Given the description of an element on the screen output the (x, y) to click on. 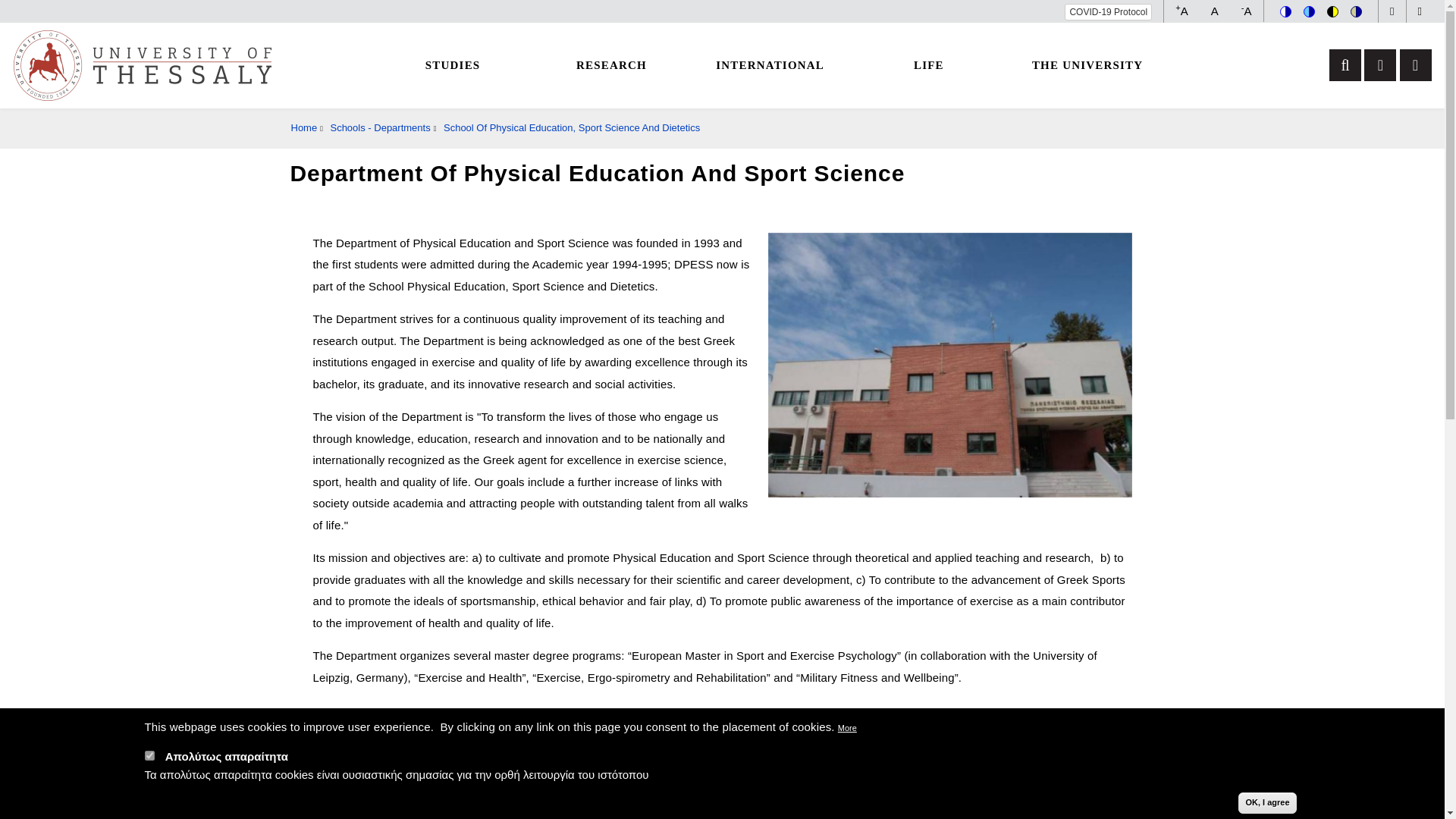
COVID-19 Protocol (1107, 12)
Homepage (141, 63)
Switch to blue theme (1308, 11)
defaultcookies (149, 755)
Department of Physical Education and Sport Science (949, 364)
Phone Directory (1419, 11)
A (1214, 11)
-A (1246, 11)
Switch to high visibility theme (1332, 11)
Switch to soft theme (1356, 11)
E-mail (1391, 11)
Switch to color theme (1285, 11)
COVID-19 Protocol (1107, 12)
